Given the description of an element on the screen output the (x, y) to click on. 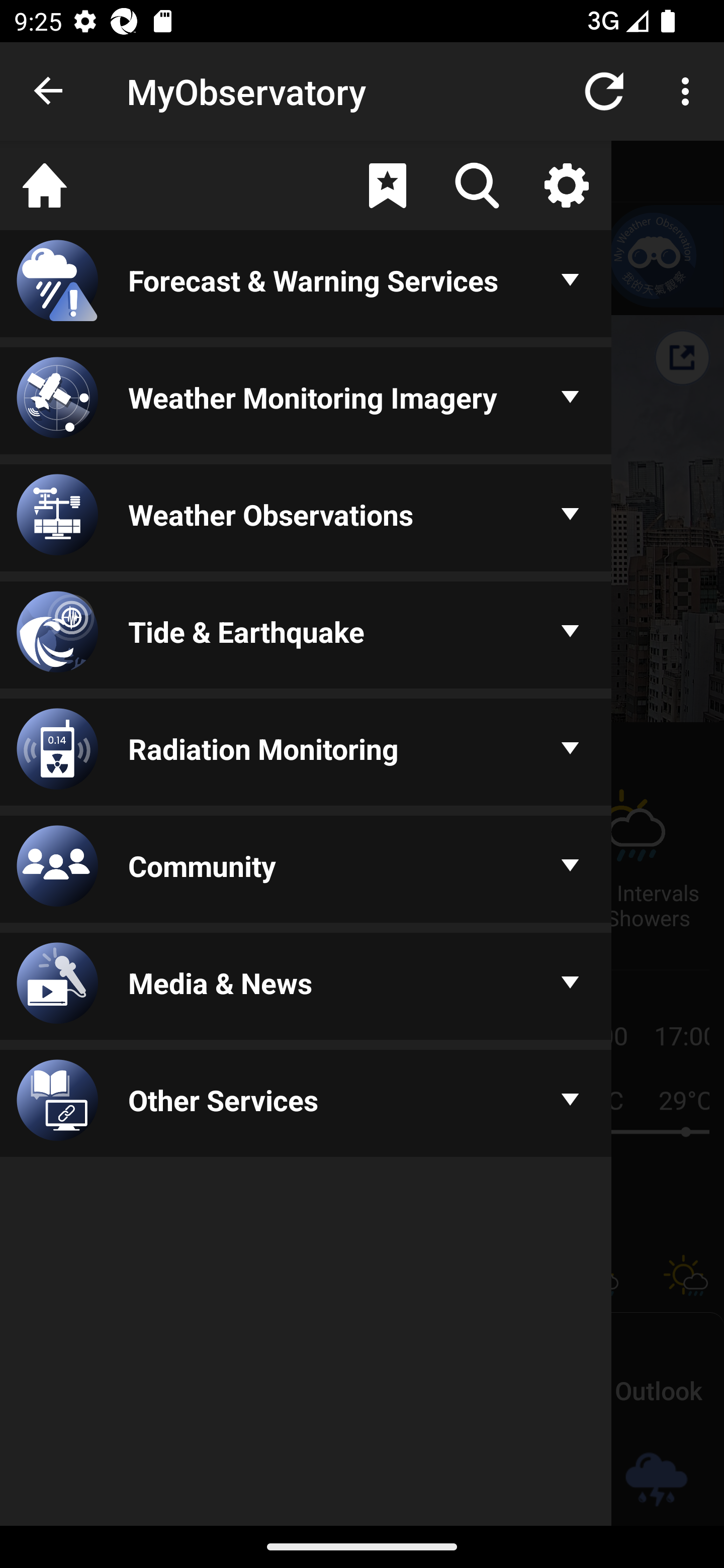
Navigate up (49, 91)
Refresh (604, 90)
More options (688, 90)
Homepage (44, 185)
Bookmark Manager (387, 185)
Search Unselected (477, 185)
Settings (566, 185)
Forecast & Warning Services Collapsed (305, 285)
Weather Monitoring Imagery Collapsed (305, 401)
Weather Observations Collapsed (305, 518)
Tide & Earthquake Collapsed (305, 636)
Radiation Monitoring Collapsed (305, 753)
Community Collapsed (305, 870)
Media & News Collapsed (305, 987)
Other Services Collapsed (305, 1104)
